Given the description of an element on the screen output the (x, y) to click on. 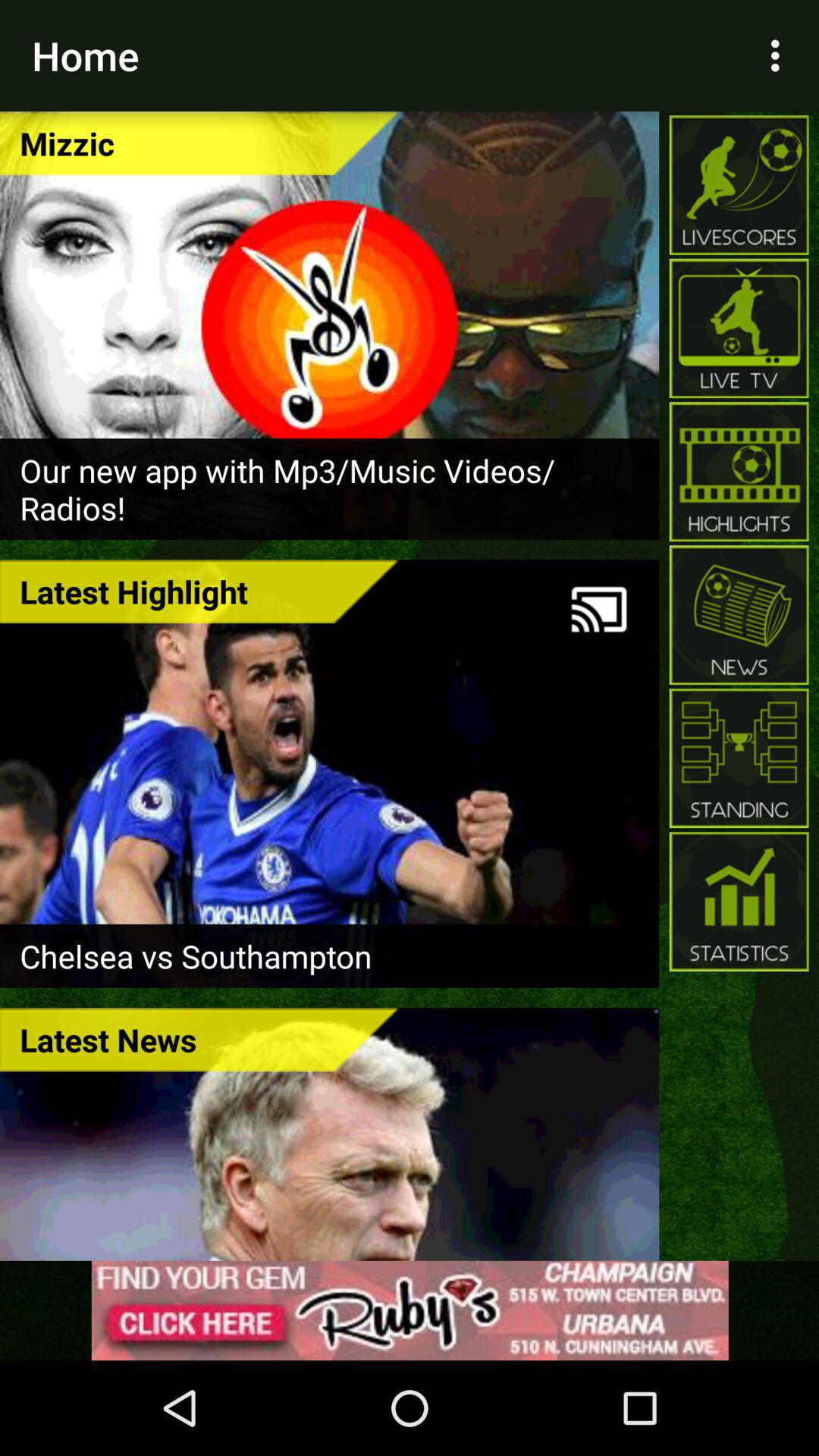
launch icon at the bottom left corner (199, 1039)
